Given the description of an element on the screen output the (x, y) to click on. 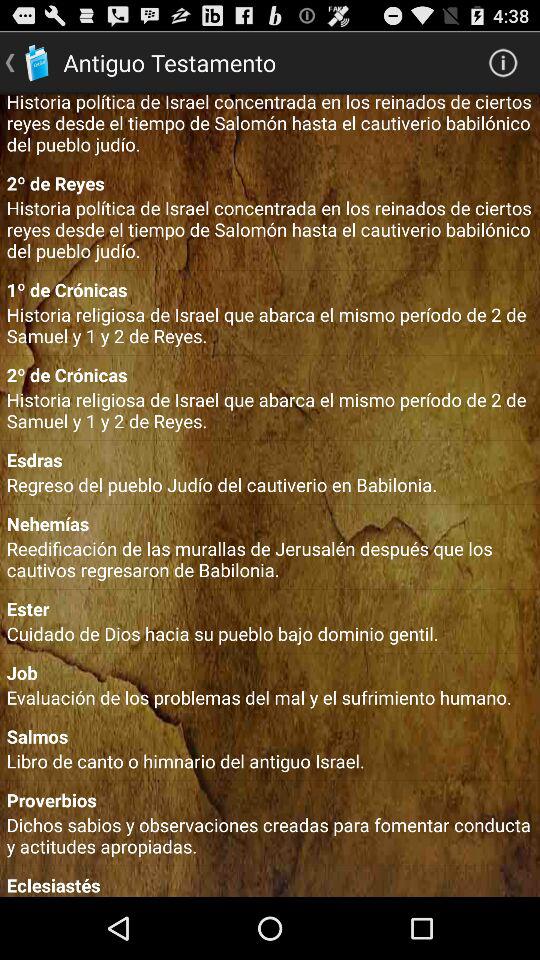
swipe to cuidado de dios icon (269, 633)
